Given the description of an element on the screen output the (x, y) to click on. 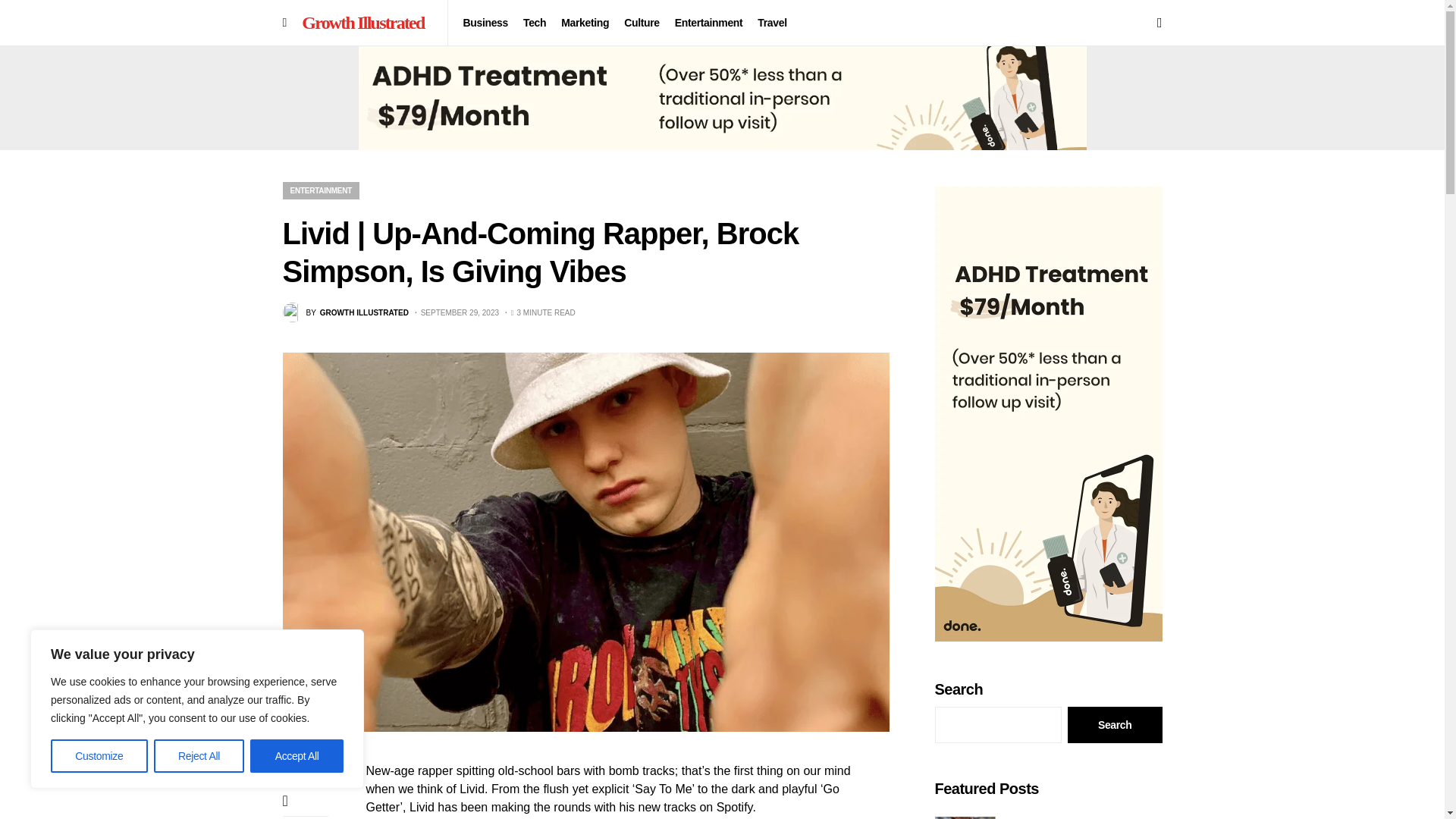
Entertainment (708, 22)
Accept All (296, 756)
Business (485, 22)
Reject All (199, 756)
View all posts by Growth Illustrated (344, 312)
Growth Illustrated (365, 22)
Customize (99, 756)
Marketing (584, 22)
